Given the description of an element on the screen output the (x, y) to click on. 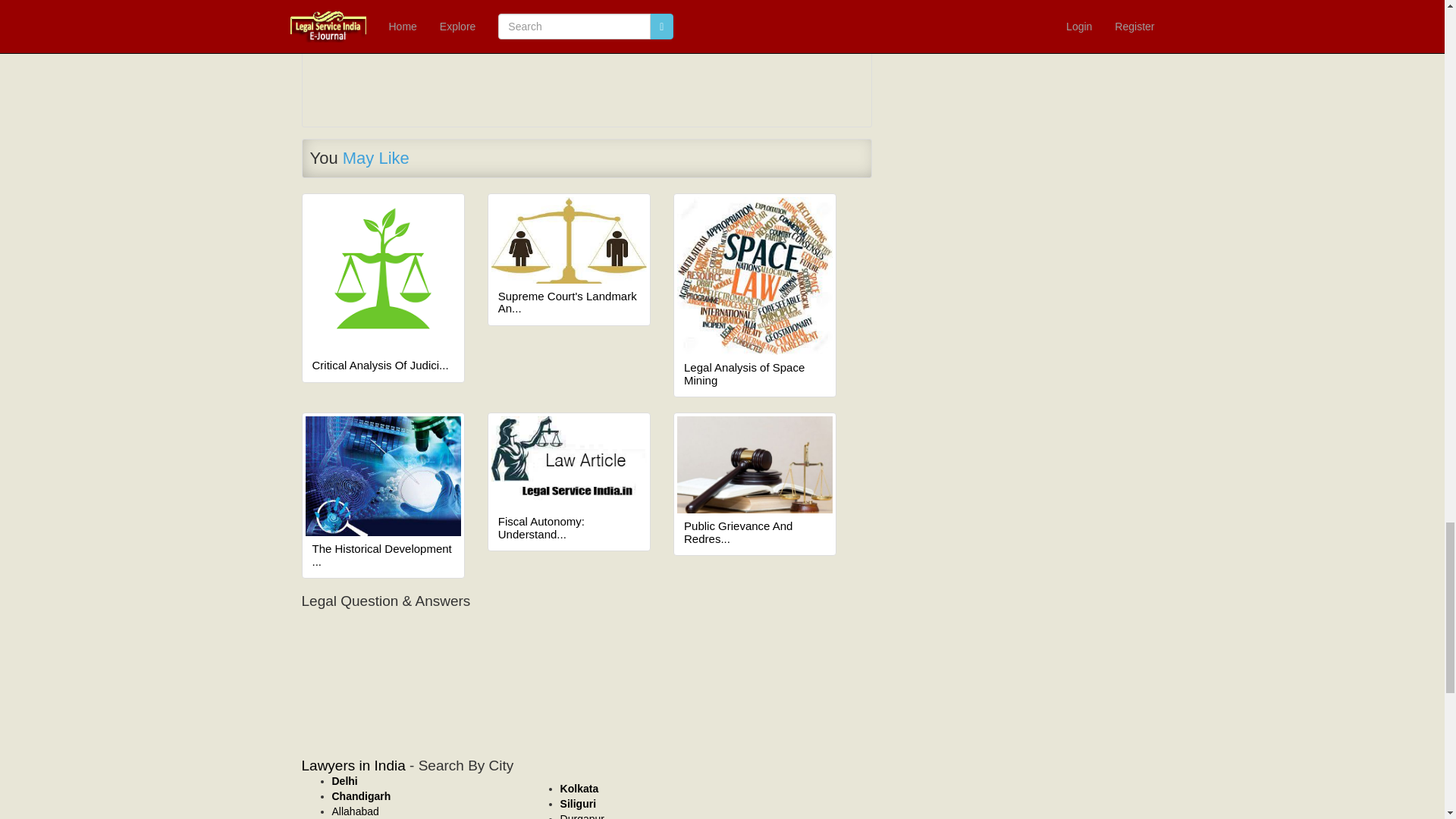
Lawyers in New Delhi (344, 780)
Legal Analysis of Space Mining (754, 373)
fw-iframe (586, 666)
Critical Analysis Of Judici... (383, 365)
Lawyers in Allahabad (354, 811)
Lawyers in Chandigarh (361, 796)
Allahabad (354, 811)
Fiscal Autonomy: Understand... (568, 527)
Chandigarh (361, 796)
The Historical Development ... (383, 555)
